Given the description of an element on the screen output the (x, y) to click on. 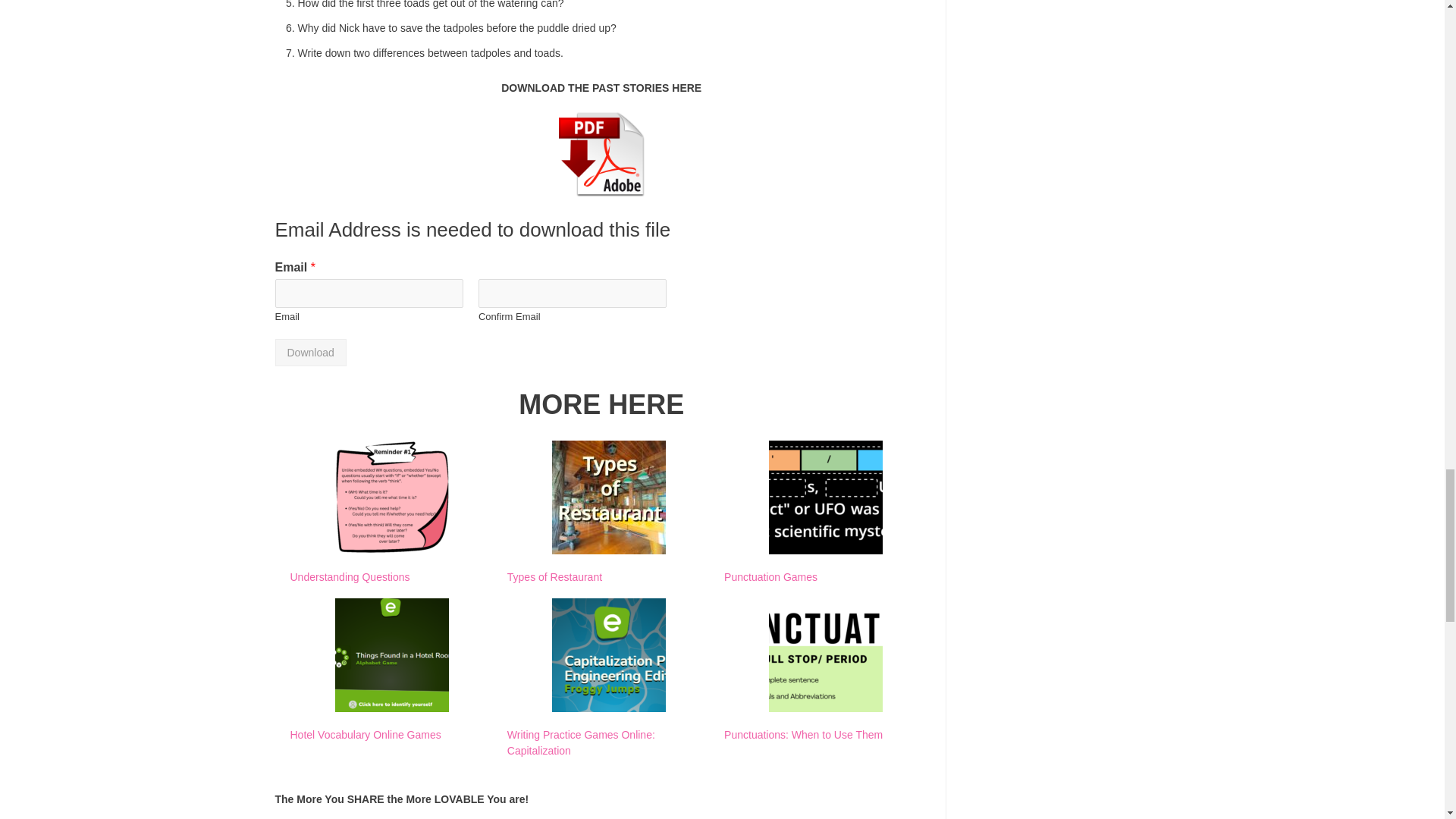
Punctuation Games (769, 576)
Google Gmail (442, 814)
More (584, 814)
Pinterest (346, 814)
Understanding Questions (349, 576)
Types of Restaurant (554, 576)
Instagram (489, 814)
Google Classroom (393, 814)
Download (310, 352)
Youtube (537, 814)
Writing Practice Games Online: Capitalization (580, 742)
Punctuations: When to Use Them (802, 734)
Hotel Vocabulary Online Games (365, 734)
Facebook (298, 814)
